Given the description of an element on the screen output the (x, y) to click on. 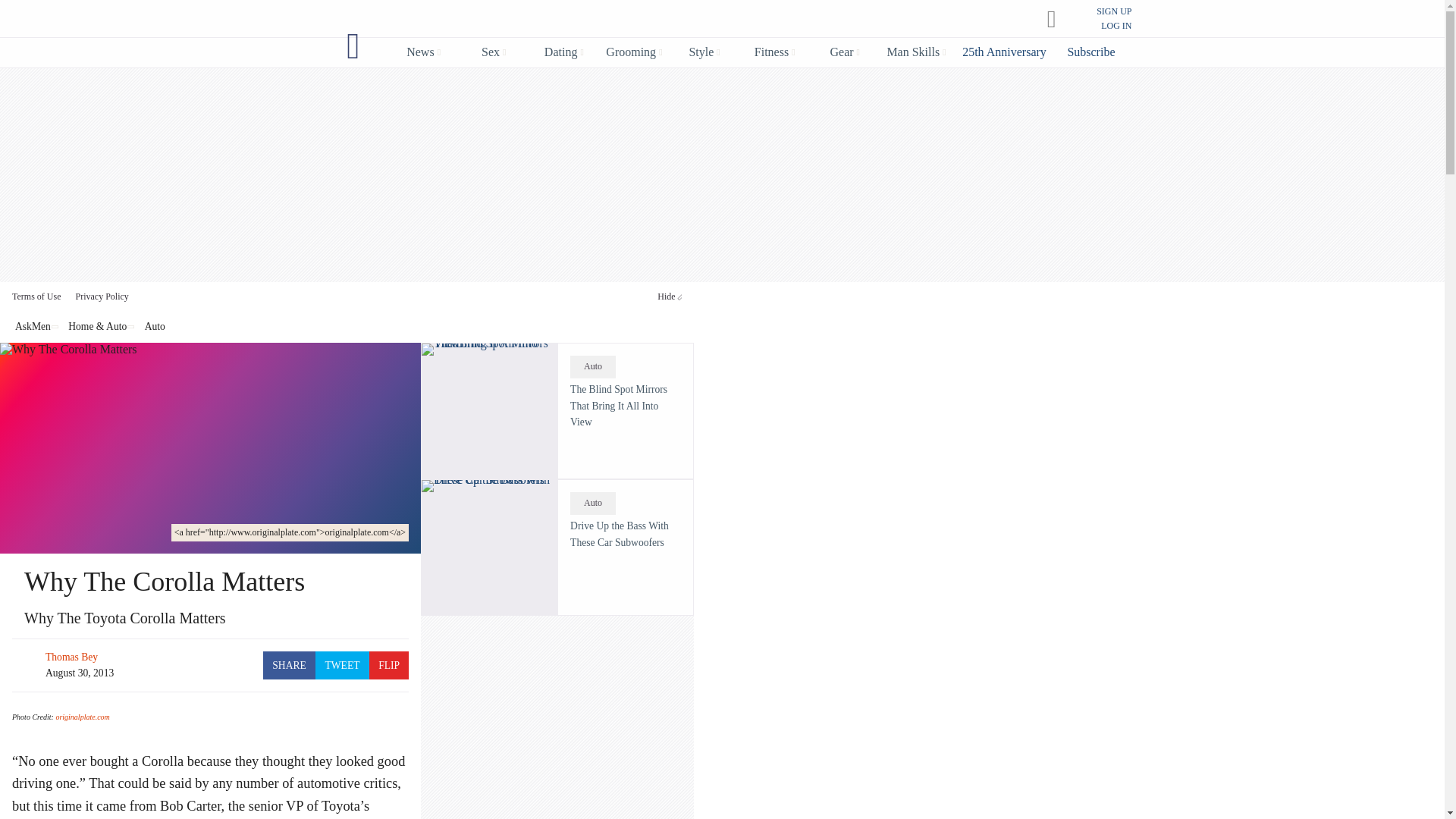
AskMen (706, 20)
LOG IN (1115, 25)
GuyQ (352, 45)
SIGN UP (1113, 11)
